Given the description of an element on the screen output the (x, y) to click on. 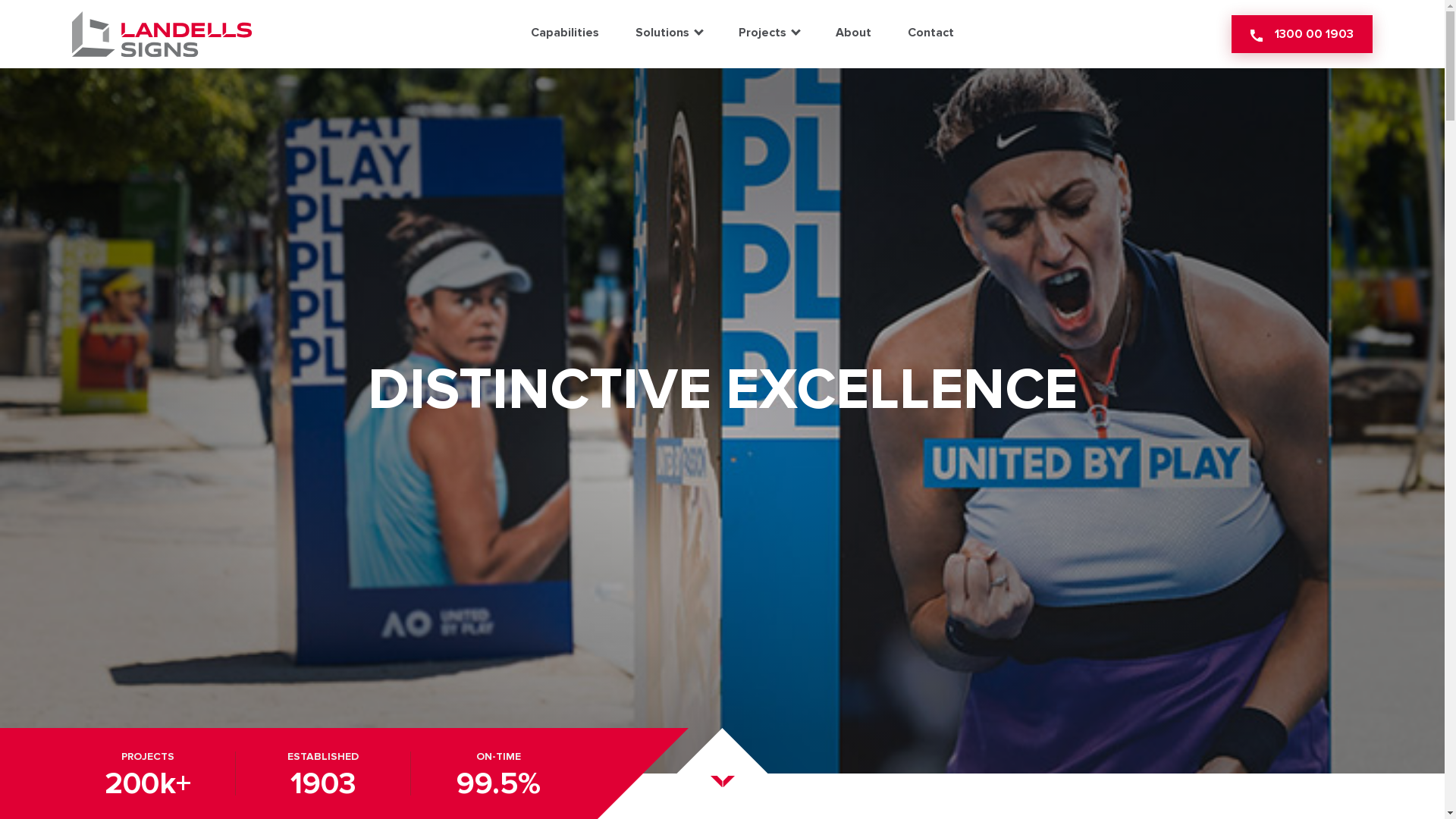
1300 00 1903 Element type: text (1301, 34)
About Element type: text (853, 34)
Solutions Element type: text (668, 34)
Projects Element type: text (768, 34)
Capabilities Element type: text (564, 34)
Contact Element type: text (929, 34)
